Given the description of an element on the screen output the (x, y) to click on. 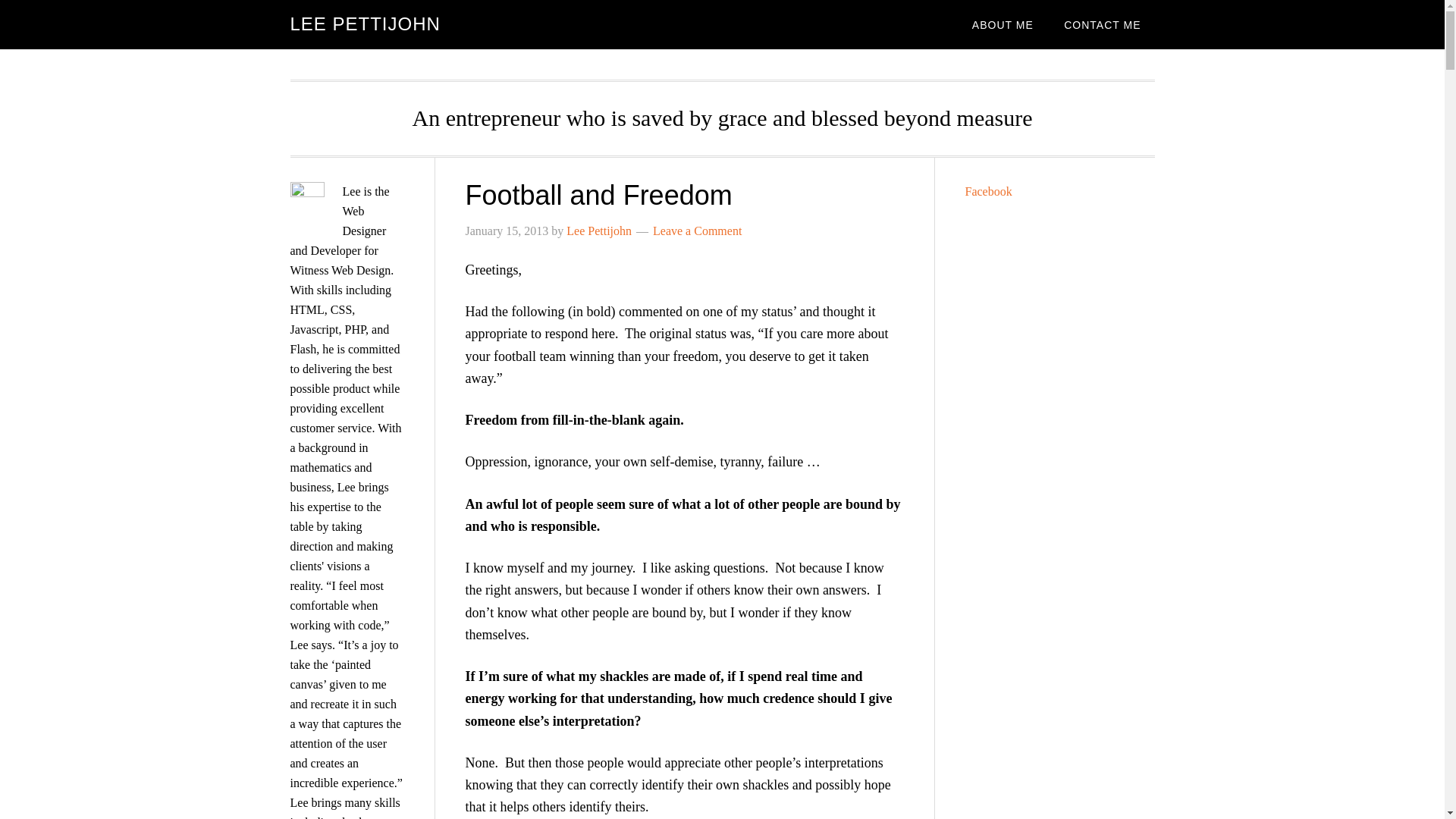
Leave a Comment (696, 230)
ABOUT ME (1002, 24)
Facebook (987, 191)
Football and Freedom (598, 194)
CONTACT ME (1101, 24)
Lee Pettijohn (598, 230)
LEE PETTIJOHN (364, 23)
